Given the description of an element on the screen output the (x, y) to click on. 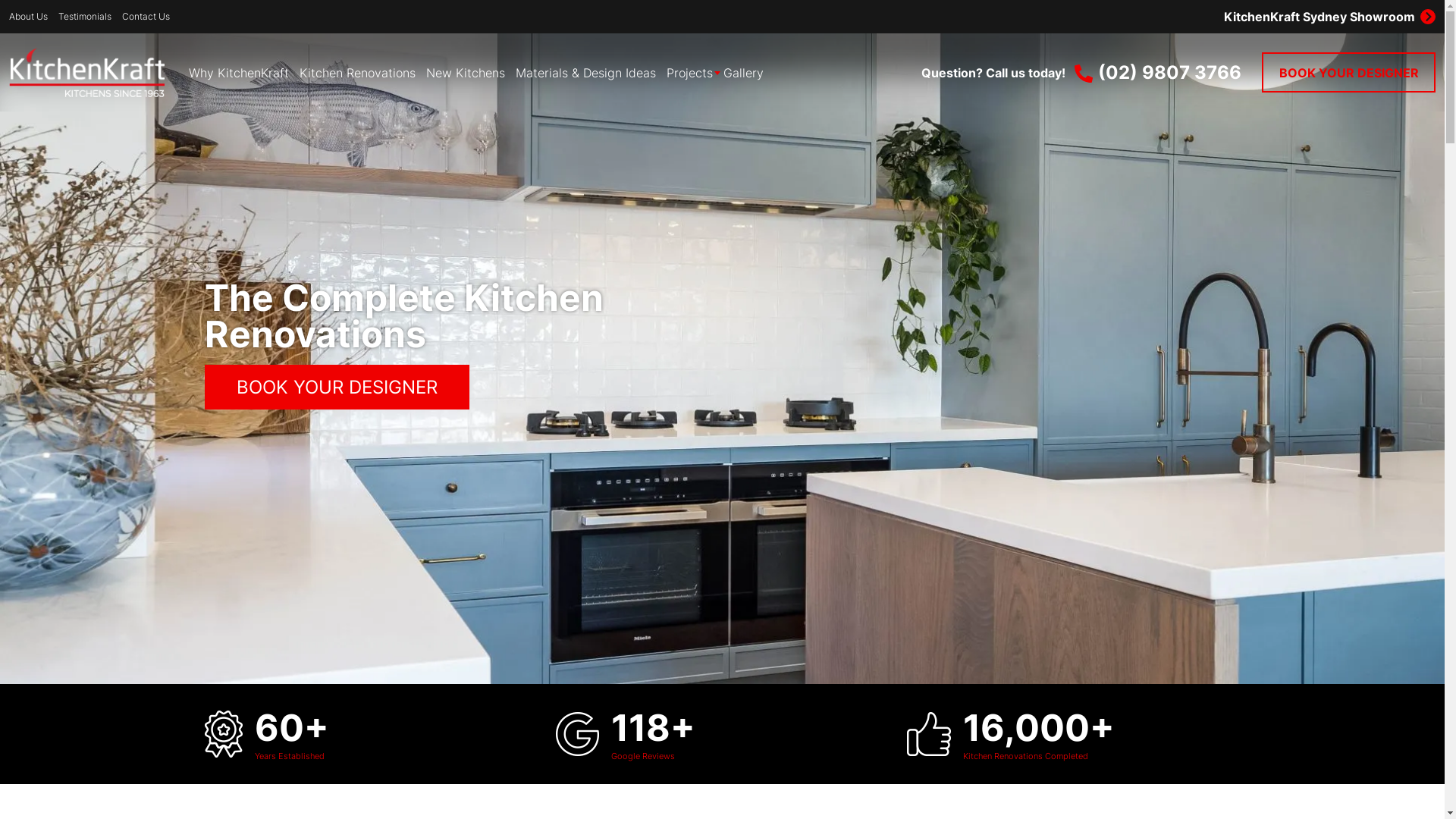
About Us Element type: text (28, 16)
BOOK YOUR DESIGNER Element type: text (1348, 72)
New Kitchens Element type: text (465, 72)
Testimonials Element type: text (84, 16)
Projects Element type: text (689, 72)
Gallery Element type: text (743, 72)
Kitchen Renovations Element type: text (357, 72)
BOOK YOUR DESIGNER Element type: text (336, 386)
Why KitchenKraft Element type: text (238, 72)
(02) 9807 3766 Element type: text (1157, 72)
Contact Us Element type: text (145, 16)
KitchenKraft Sydney Showroom Element type: text (1083, 16)
Materials & Design Ideas Element type: text (585, 72)
